Given the description of an element on the screen output the (x, y) to click on. 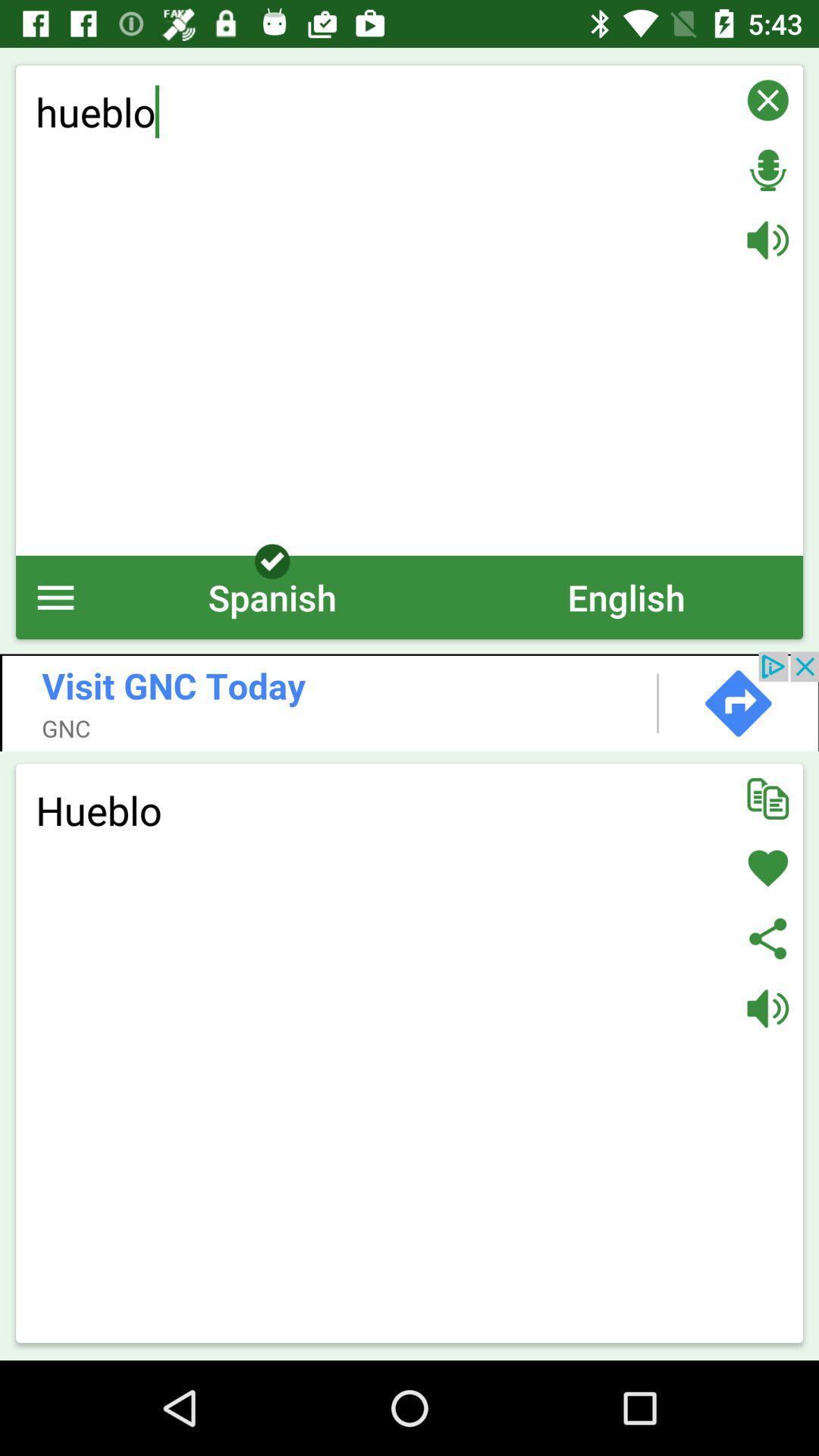
jump until spanish (272, 597)
